Given the description of an element on the screen output the (x, y) to click on. 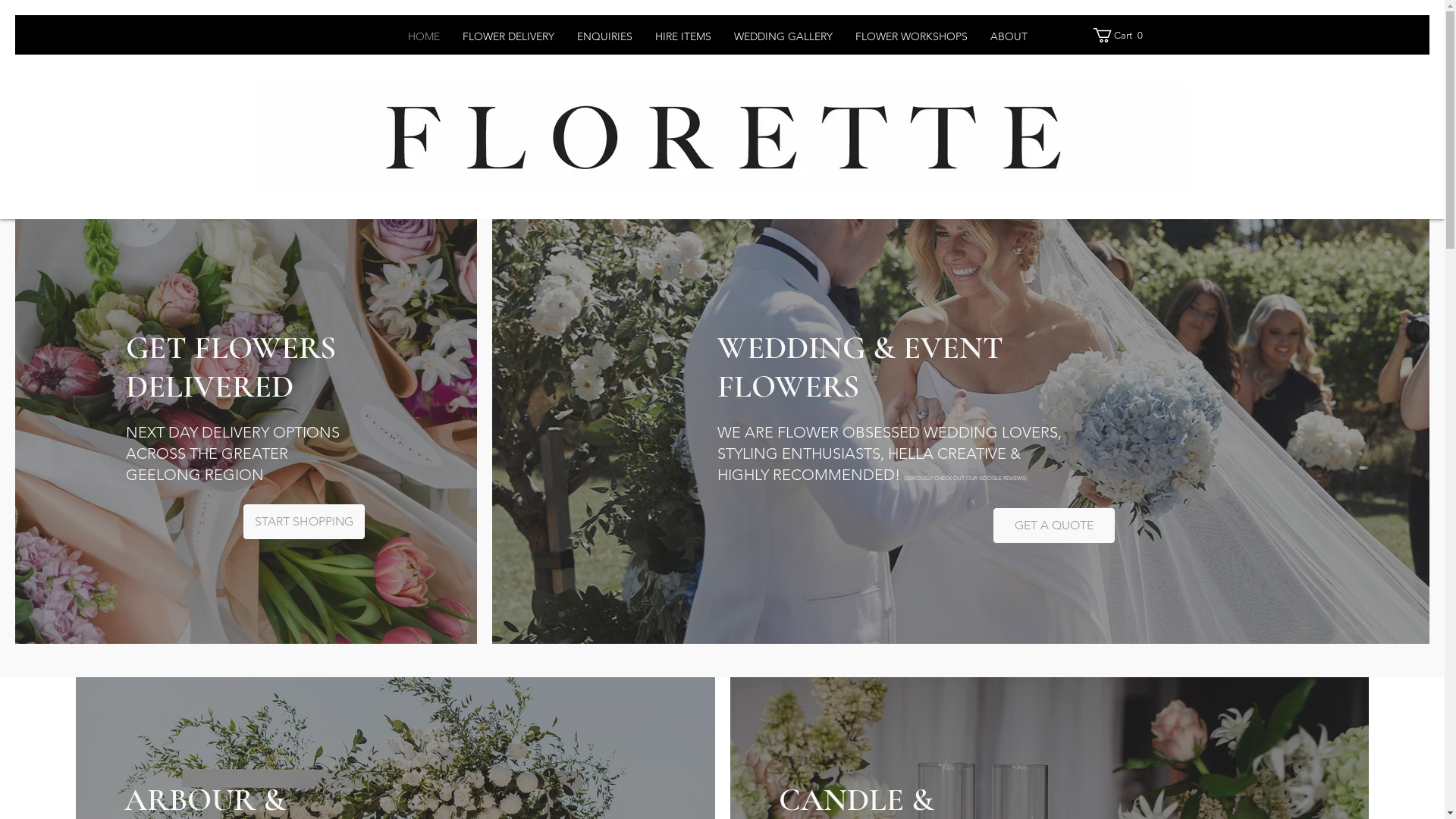
FLOWER WORKSHOPS Element type: text (911, 36)
ENQUIRIES Element type: text (604, 36)
WEDDING GALLERY Element type: text (783, 36)
HIRE ITEMS Element type: text (682, 36)
HOME Element type: text (423, 36)
GET A QUOTE Element type: text (1053, 525)
START SHOPPING Element type: text (303, 521)
FLOWER DELIVERY Element type: text (508, 36)
Cart
0 Element type: text (1120, 35)
ABOUT Element type: text (1008, 36)
